Given the description of an element on the screen output the (x, y) to click on. 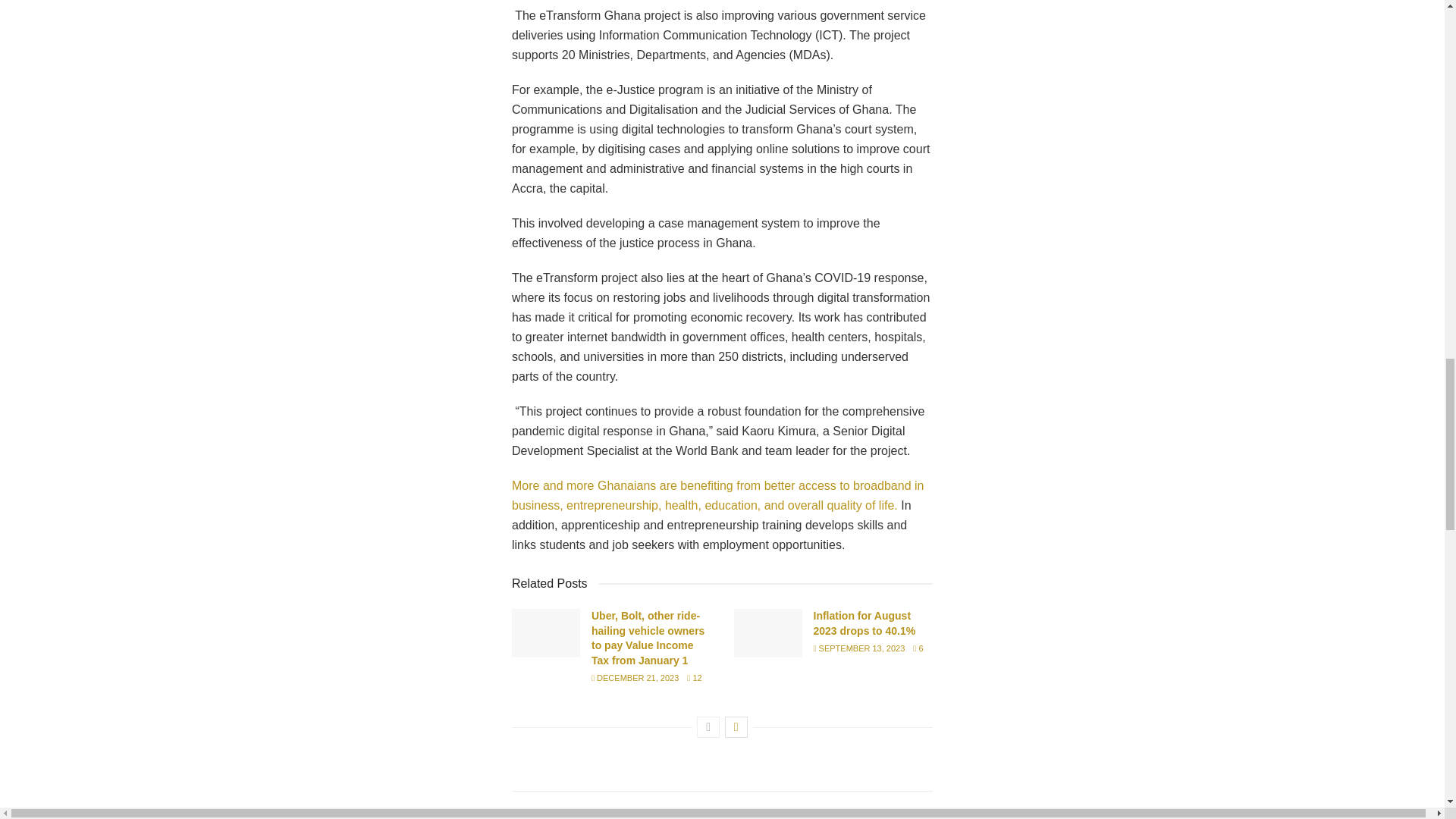
Previous (708, 726)
Next (736, 726)
